Given the description of an element on the screen output the (x, y) to click on. 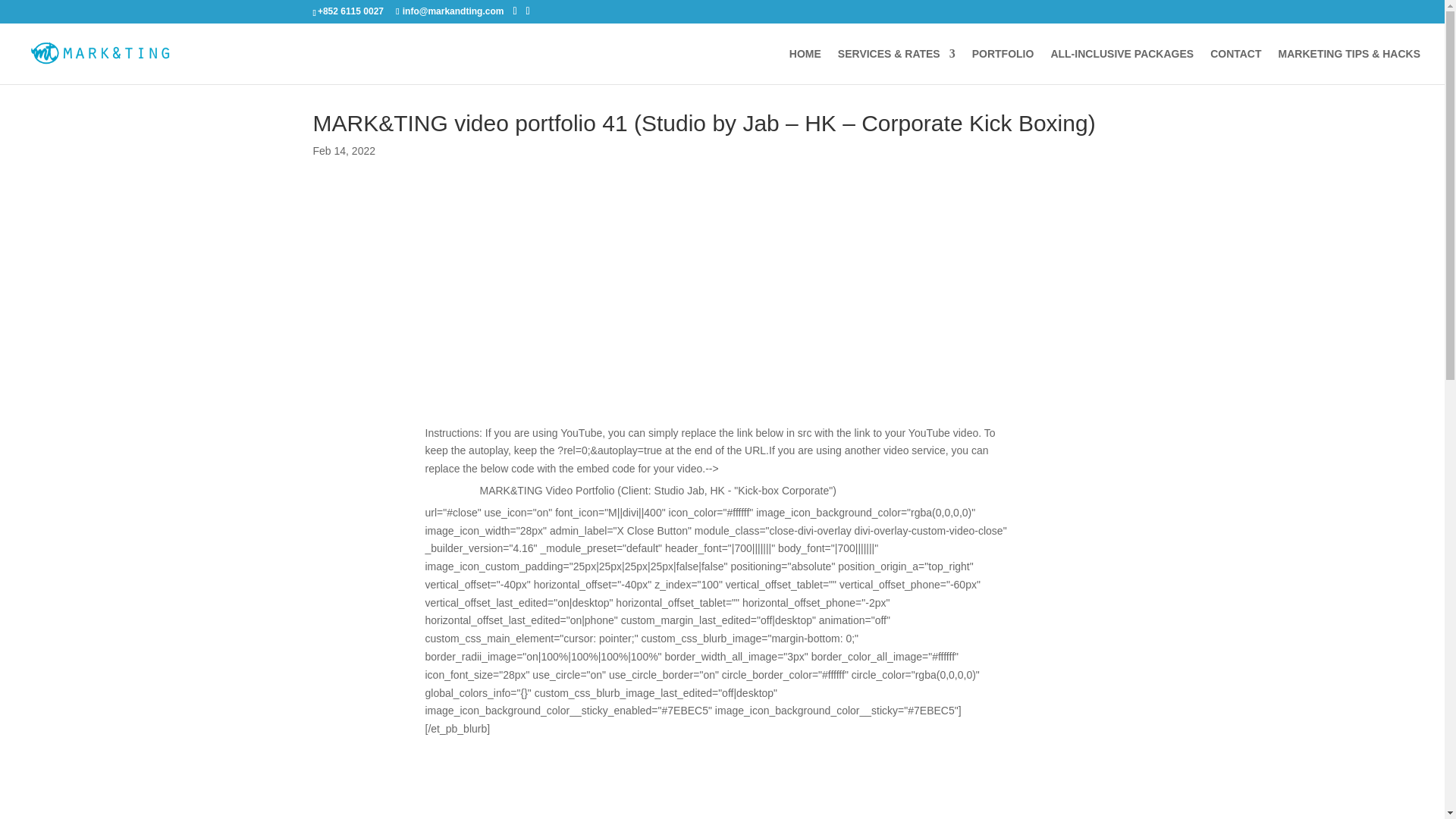
ALL-INCLUSIVE PACKAGES (1121, 66)
CONTACT (1234, 66)
HOME (805, 66)
PORTFOLIO (1002, 66)
